Given the description of an element on the screen output the (x, y) to click on. 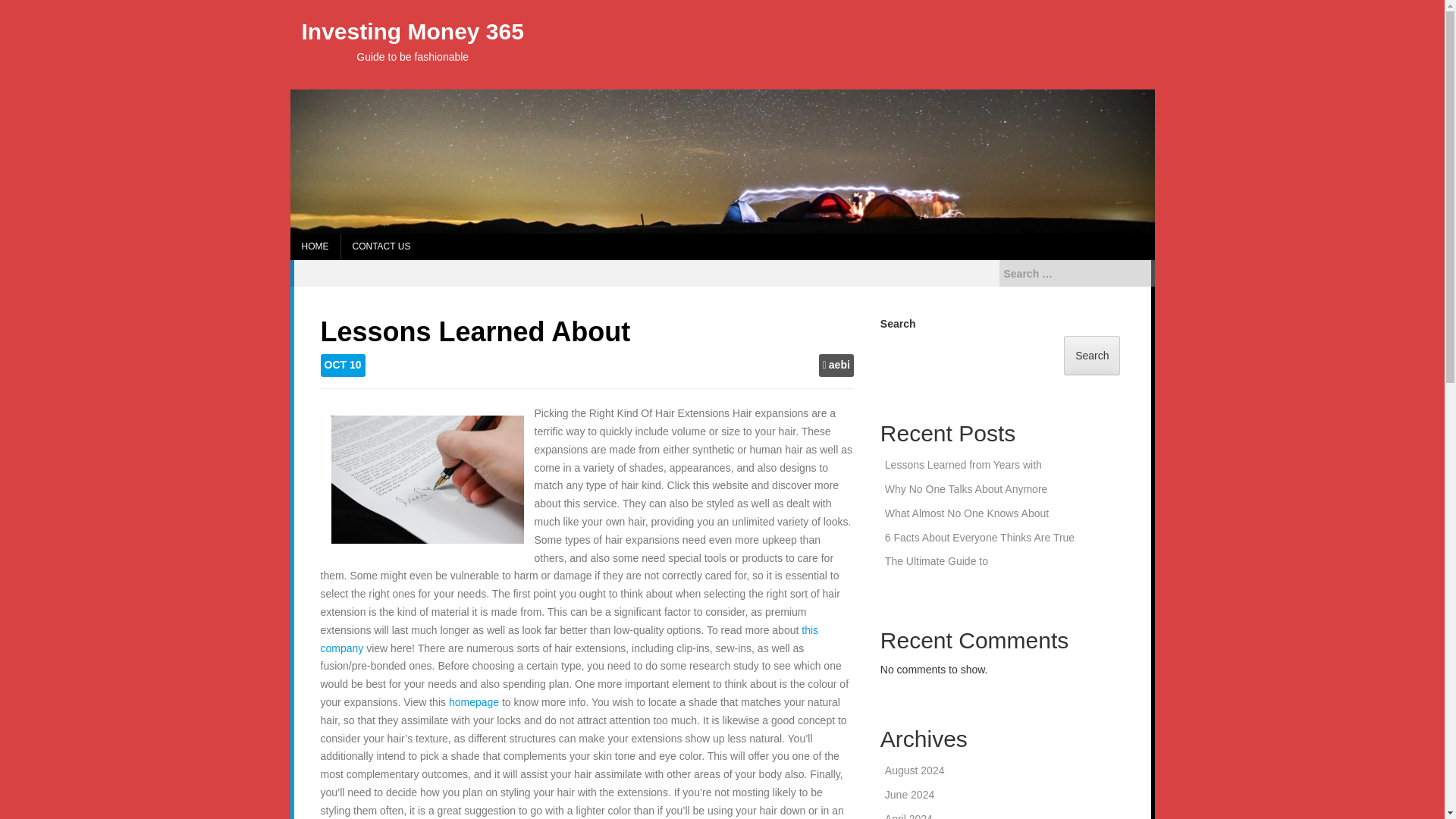
Search (1091, 355)
June 2024 (909, 794)
6 Facts About Everyone Thinks Are True (979, 536)
this company (569, 639)
HOME (314, 246)
homepage (473, 702)
CONTACT US (381, 246)
Search (24, 9)
The Ultimate Guide to (936, 561)
Investing Money 365 (412, 31)
